Given the description of an element on the screen output the (x, y) to click on. 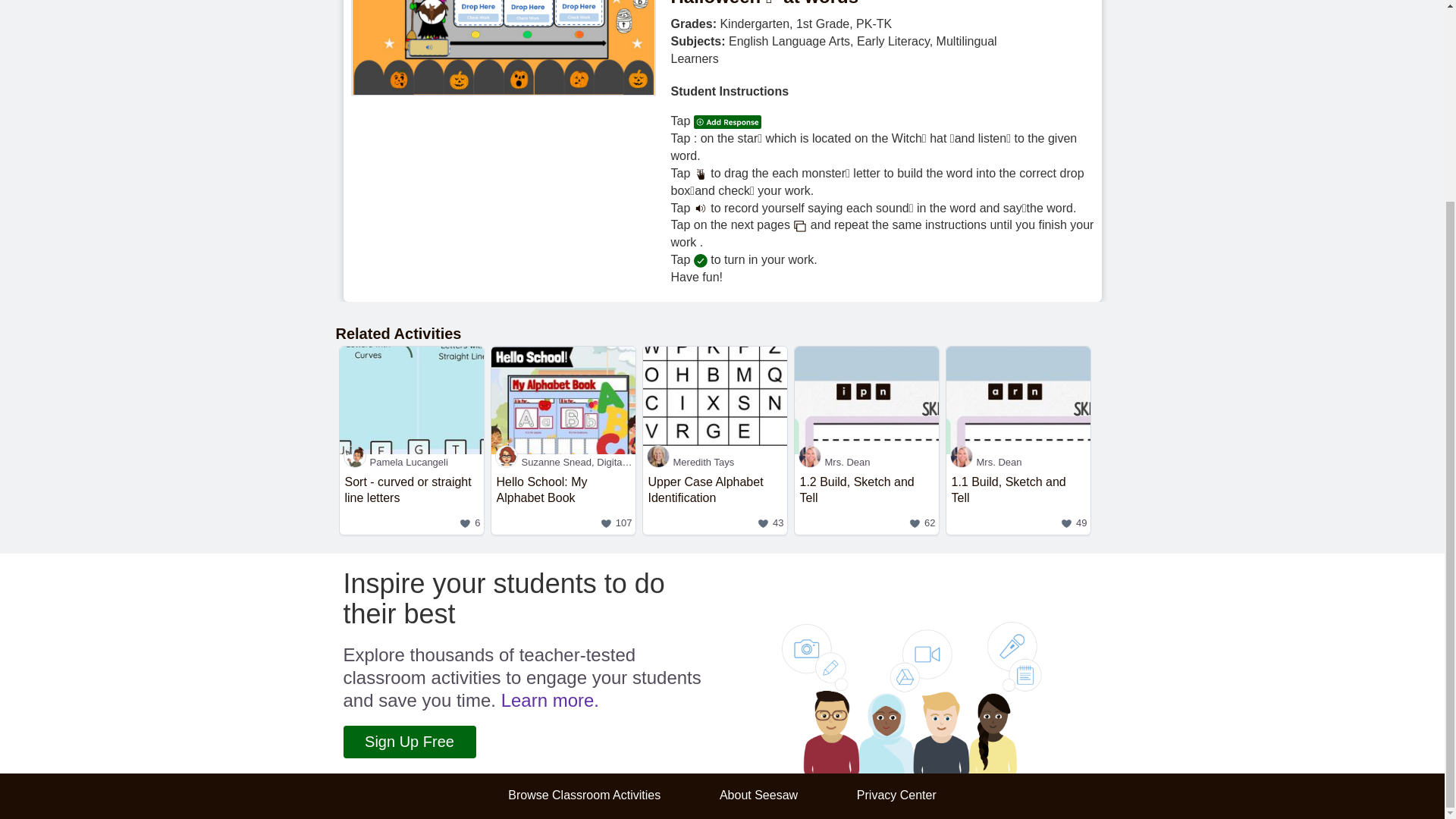
Suzanne Snead, Digital Learning Specialist (715, 501)
Mrs. Dean (563, 501)
Browse Classroom Activities (411, 501)
Sign Up Free (563, 462)
Learn more. (1018, 462)
Privacy Center (584, 795)
Meredith Tays (409, 741)
